Given the description of an element on the screen output the (x, y) to click on. 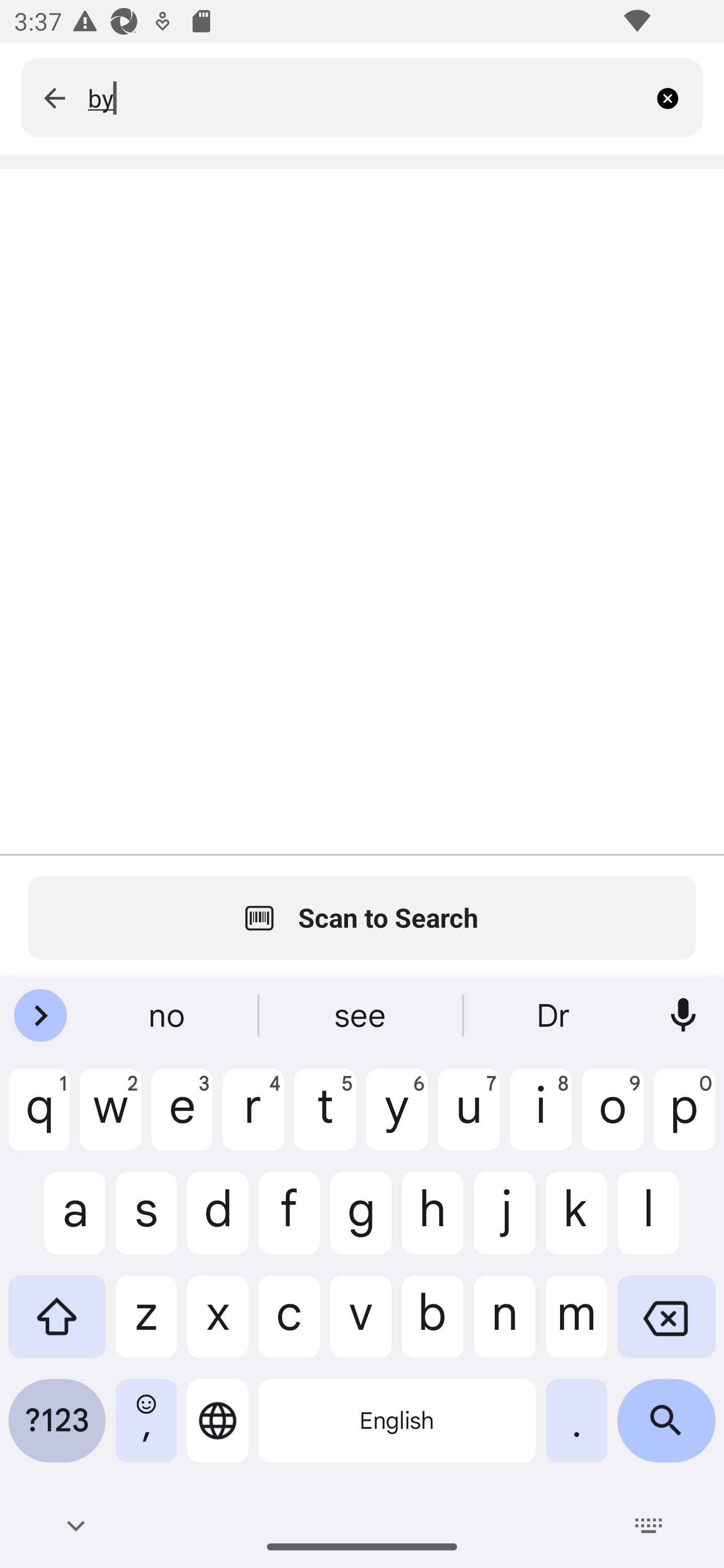
 (54, 97)
by Text input field (367, 97)
Clear search bar text  (674, 97)
